Given the description of an element on the screen output the (x, y) to click on. 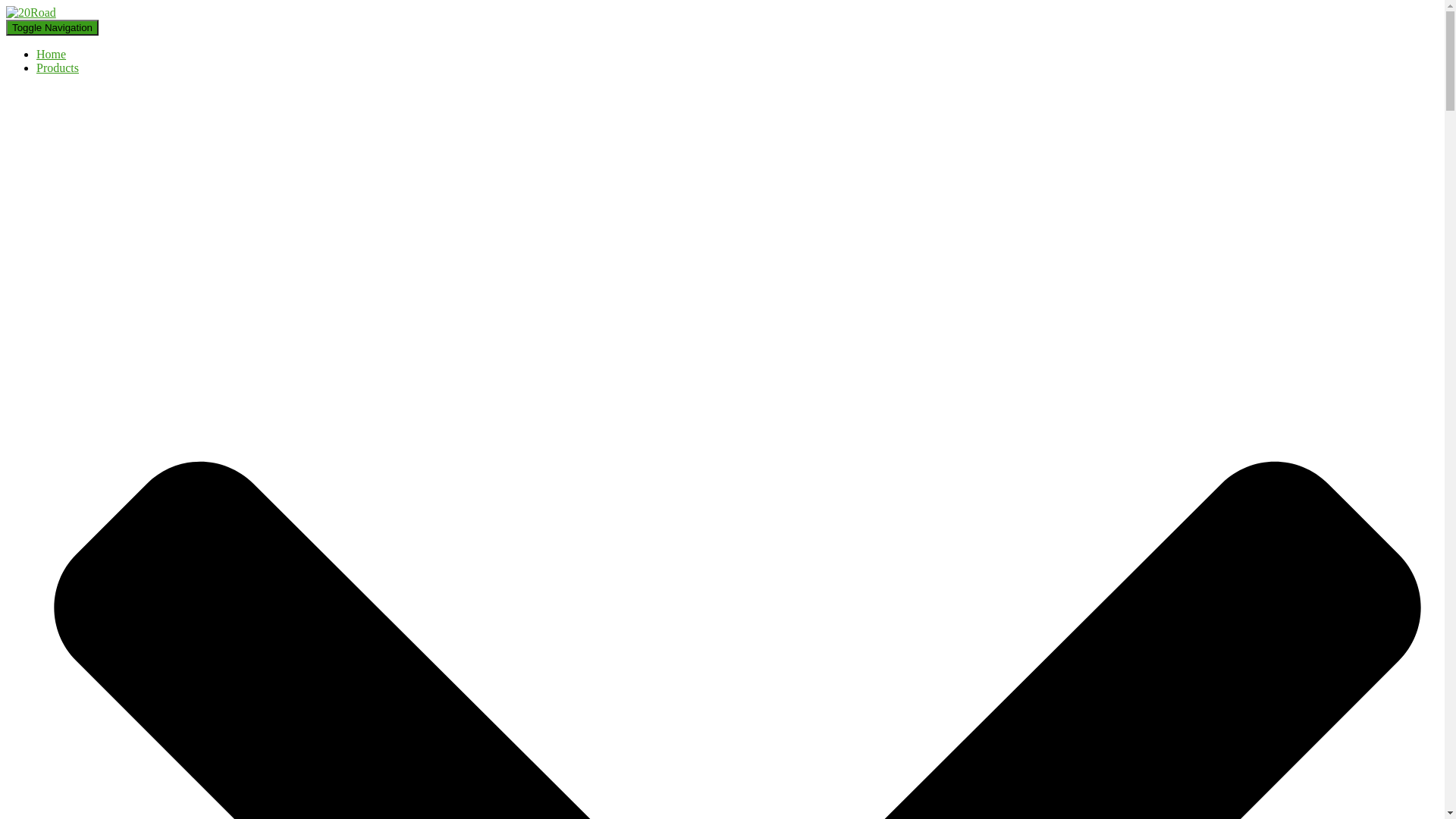
Home Element type: text (50, 53)
20Road Element type: hover (31, 12)
Toggle Navigation Element type: text (52, 27)
